Given the description of an element on the screen output the (x, y) to click on. 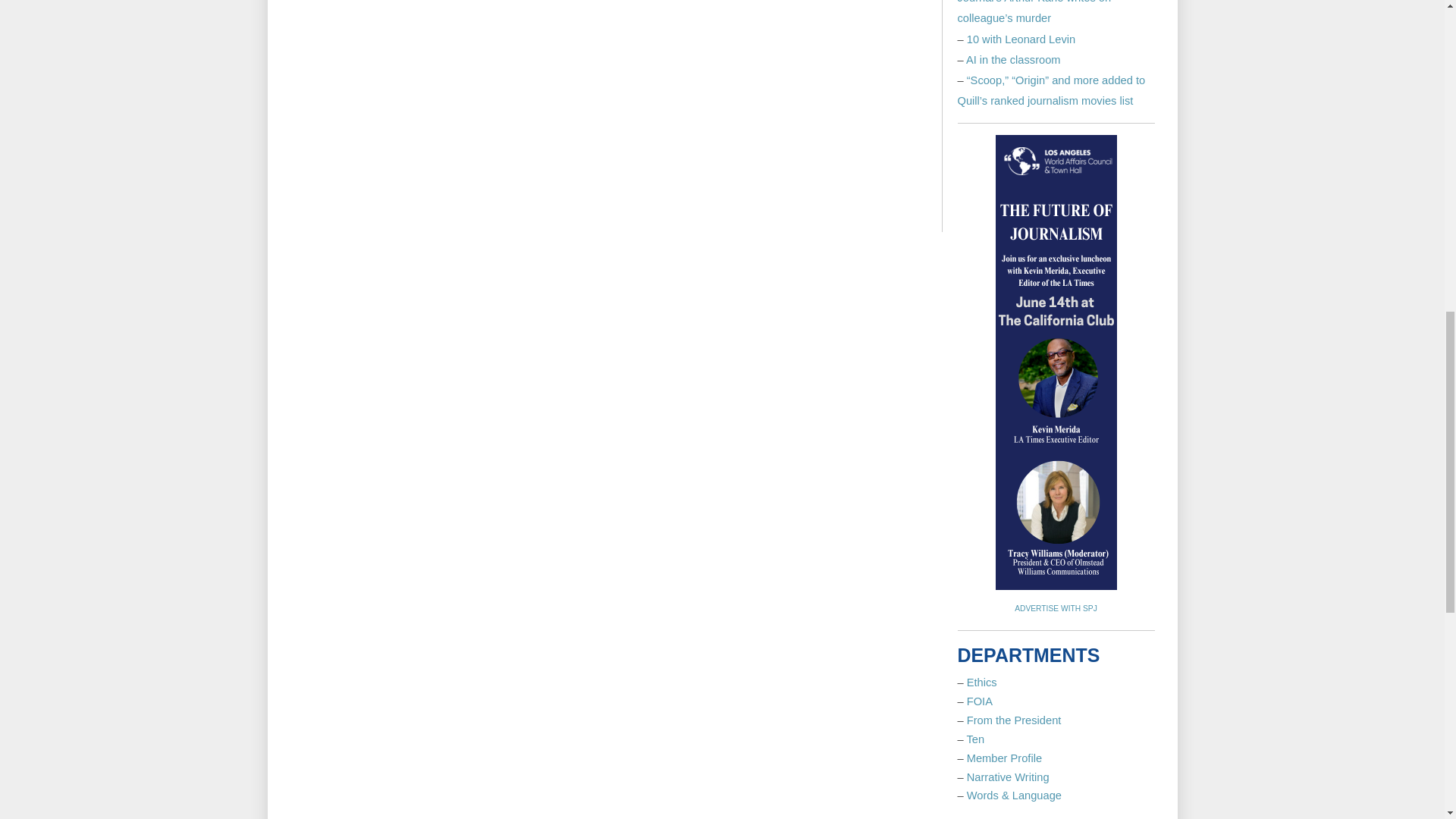
AI in the classroom (1013, 60)
ADVERTISE WITH SPJ (1055, 608)
10 with Leonard Levin (1020, 39)
Member Profile (1004, 758)
From the President (1013, 720)
Ethics (981, 682)
Ten (975, 739)
FOIA (979, 701)
